Given the description of an element on the screen output the (x, y) to click on. 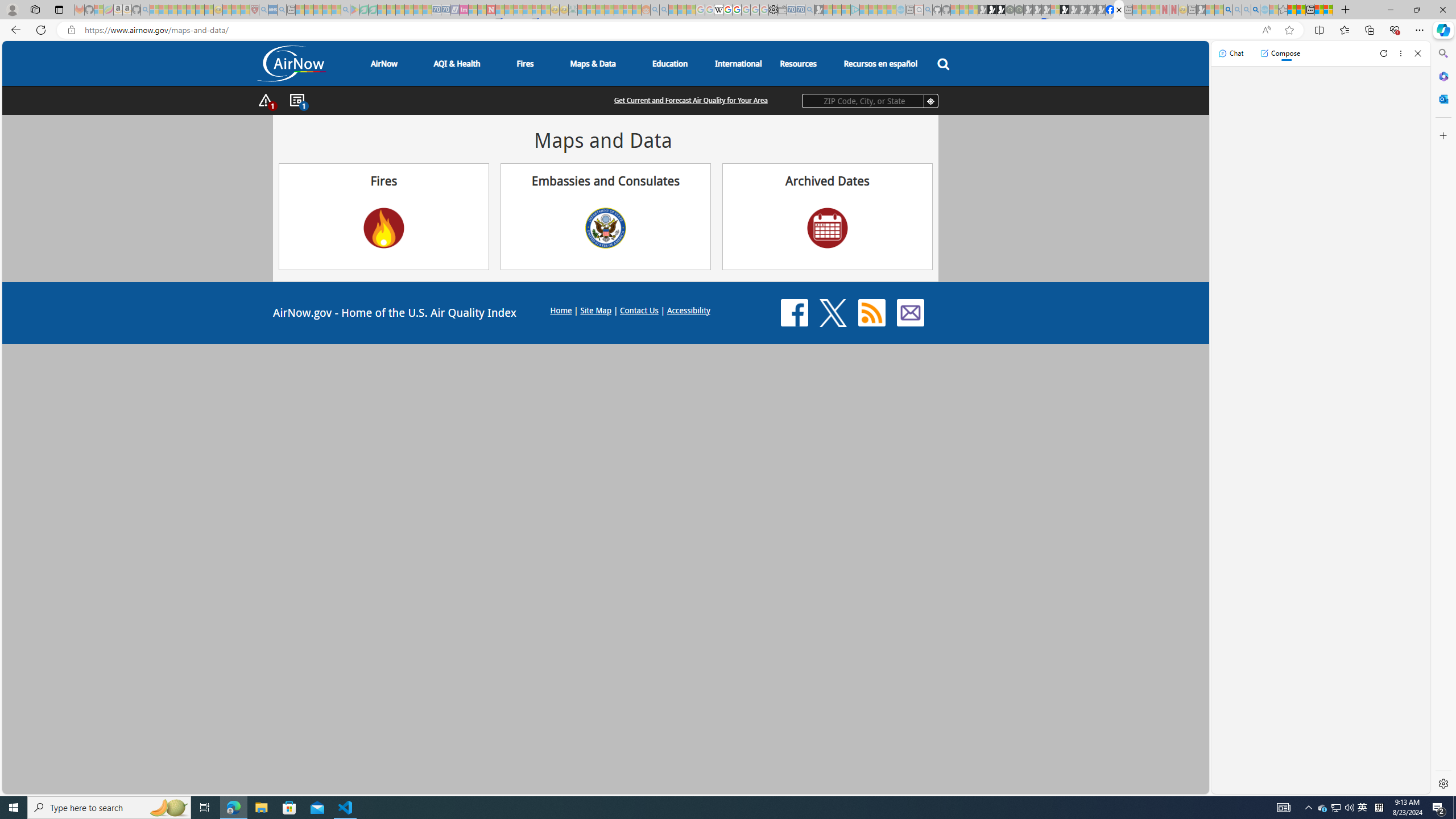
Archived Dates Archived Dates (827, 216)
Site Map (595, 309)
MSN - Sleeping (1200, 9)
Contact Us  (910, 312)
X (833, 312)
X (833, 312)
